Given the description of an element on the screen output the (x, y) to click on. 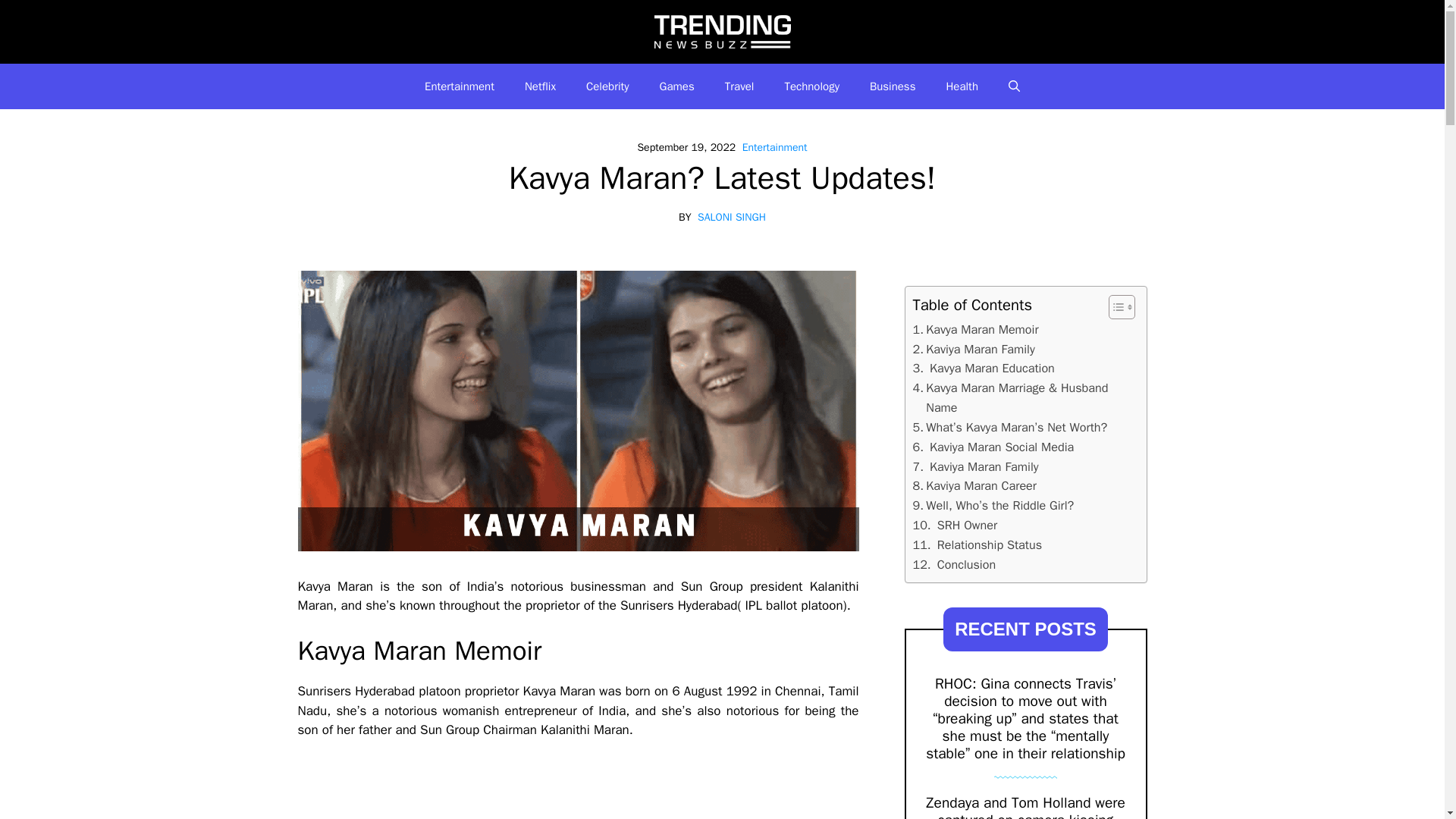
 Kavya Maran Education (983, 368)
Kaviya Maran Family (973, 349)
Celebrity (607, 85)
Health (961, 85)
 Relationship Status (977, 545)
 Kaviya Maran Family (975, 466)
Games (677, 85)
Kaviya Maran Career (974, 485)
Technology (811, 85)
Travel (740, 85)
SALONI SINGH (731, 216)
 Conclusion (953, 564)
Netflix (539, 85)
